Given the description of an element on the screen output the (x, y) to click on. 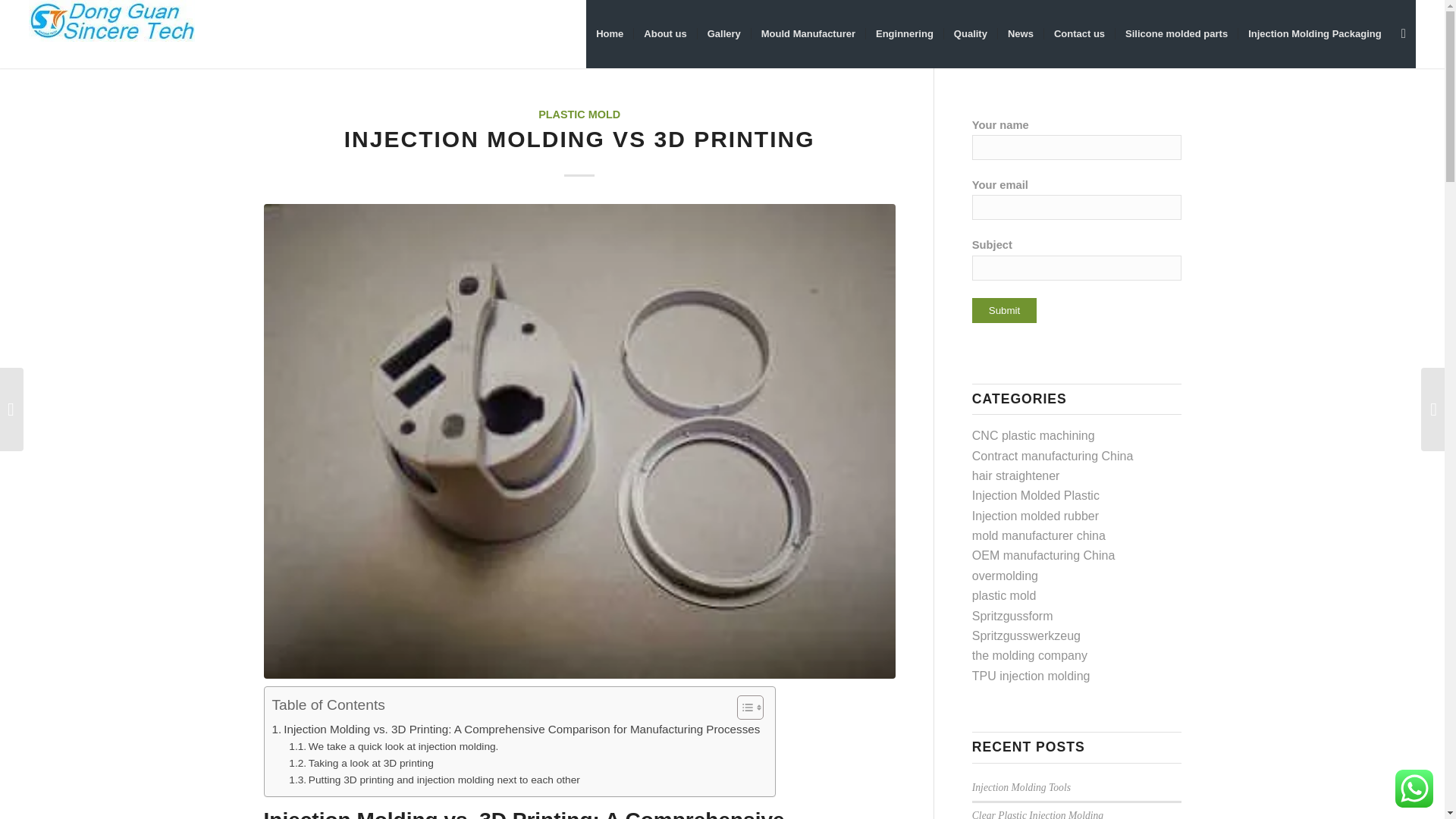
We take a quick look at injection molding. (392, 746)
About us (664, 33)
Submit (1004, 310)
Contact us (1079, 33)
Taking a look at 3D printing (360, 763)
Taking a look at 3D printing (360, 763)
Injection Molding Packaging (1314, 33)
We take a quick look at injection molding. (392, 746)
Putting 3D printing and injection molding next to each other (433, 780)
PLASTIC MOLD (579, 114)
Mould Manufacturer (807, 33)
Enginnering (903, 33)
